Given the description of an element on the screen output the (x, y) to click on. 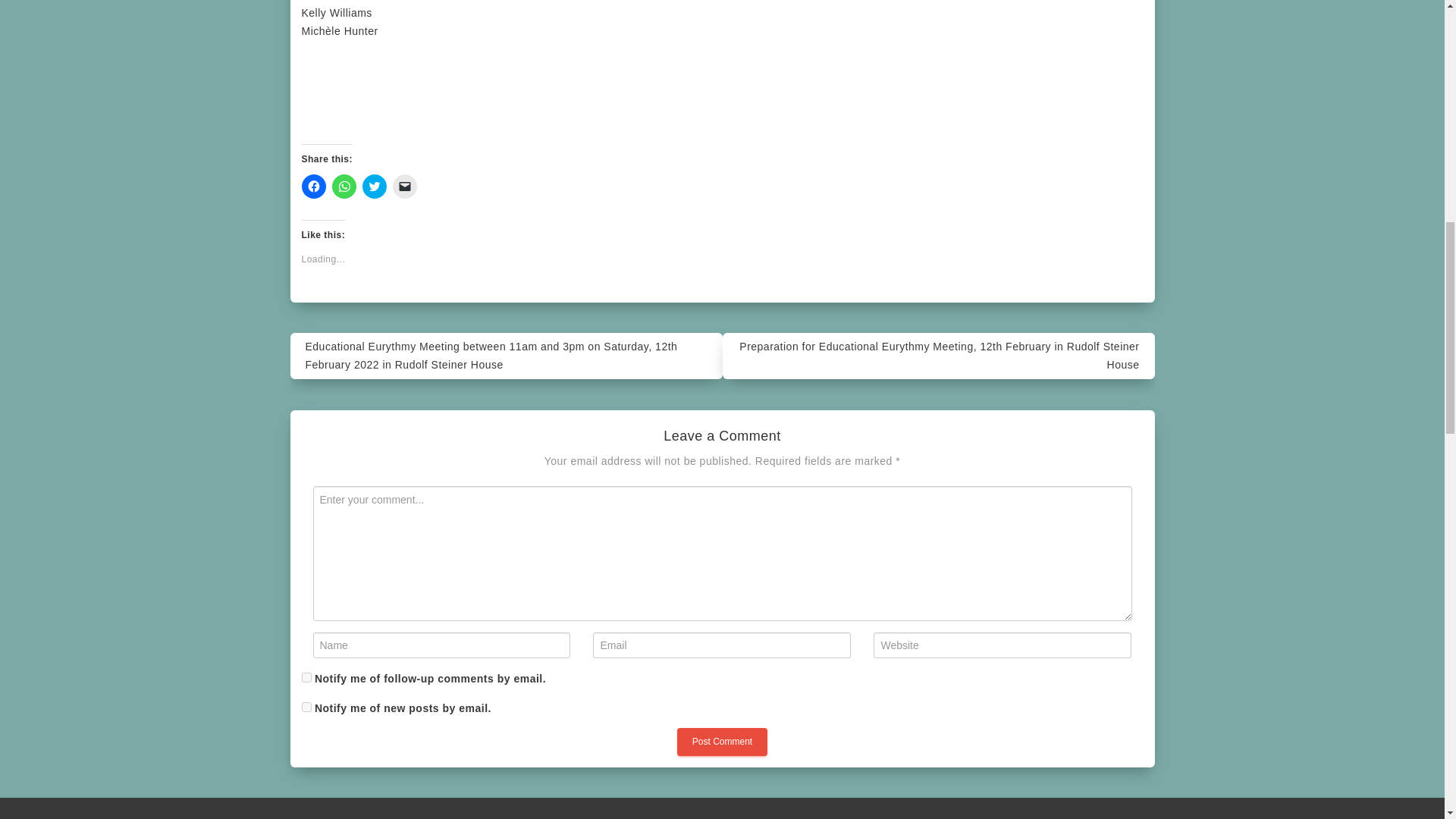
subscribe (306, 677)
subscribe (306, 706)
Click to share on WhatsApp (343, 186)
Click to share on Facebook (313, 186)
Click to share on Twitter (374, 186)
Click to email a link to a friend (404, 186)
Post Comment (722, 741)
Post Comment (722, 741)
